Given the description of an element on the screen output the (x, y) to click on. 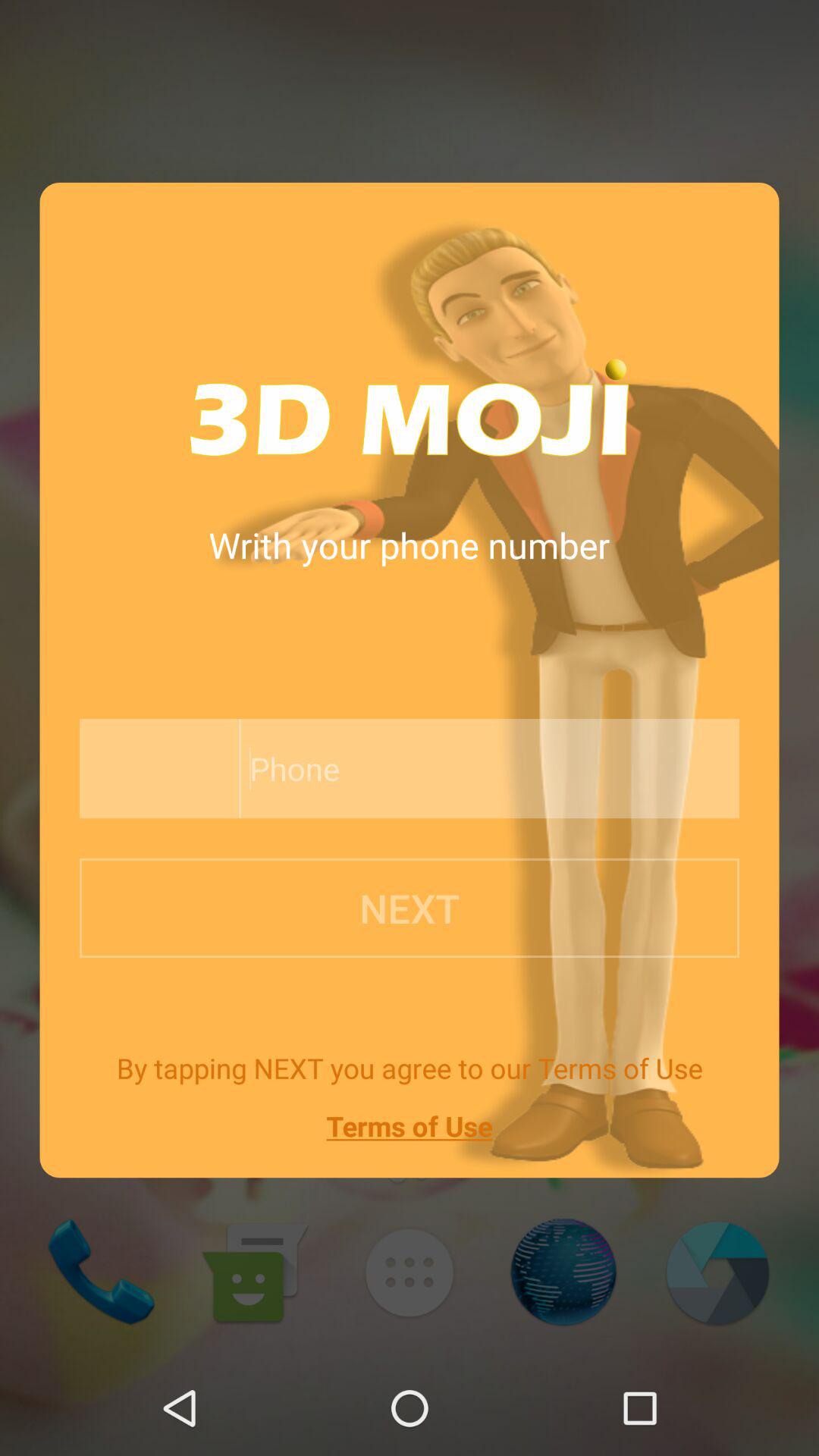
press the icon below the writh your phone (454, 768)
